Given the description of an element on the screen output the (x, y) to click on. 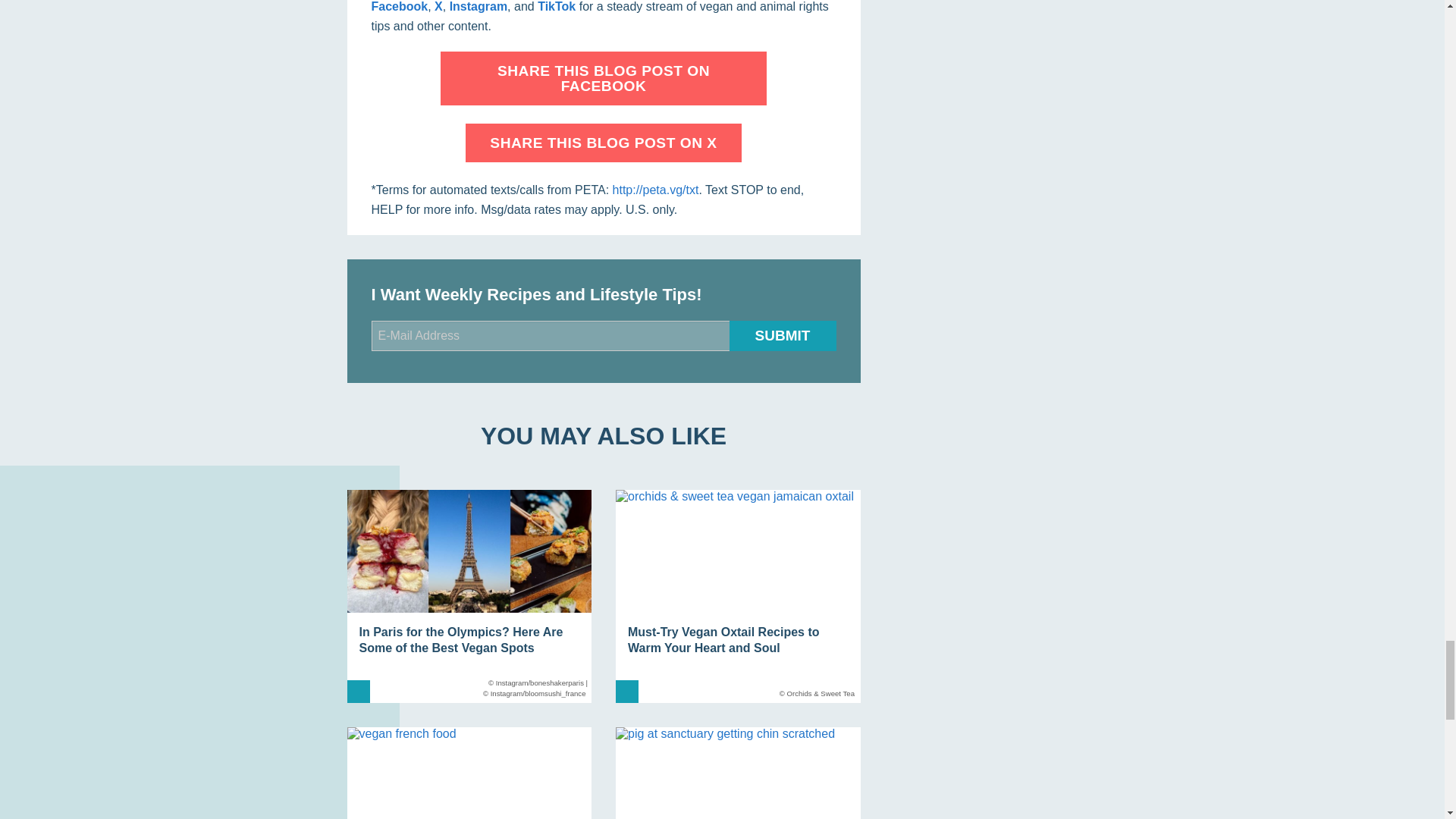
Submit (782, 336)
